Given the description of an element on the screen output the (x, y) to click on. 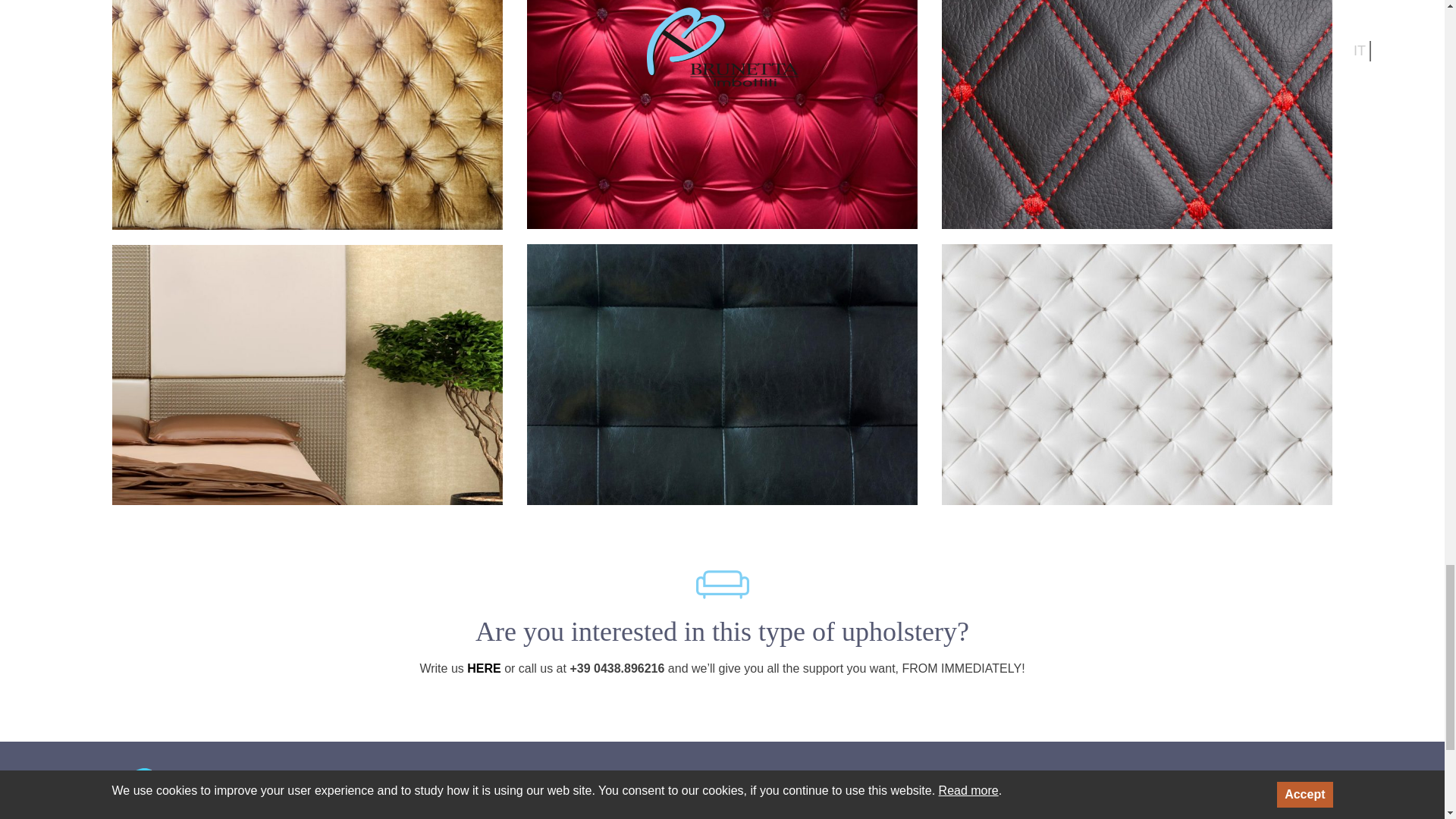
HERE (483, 667)
